Given the description of an element on the screen output the (x, y) to click on. 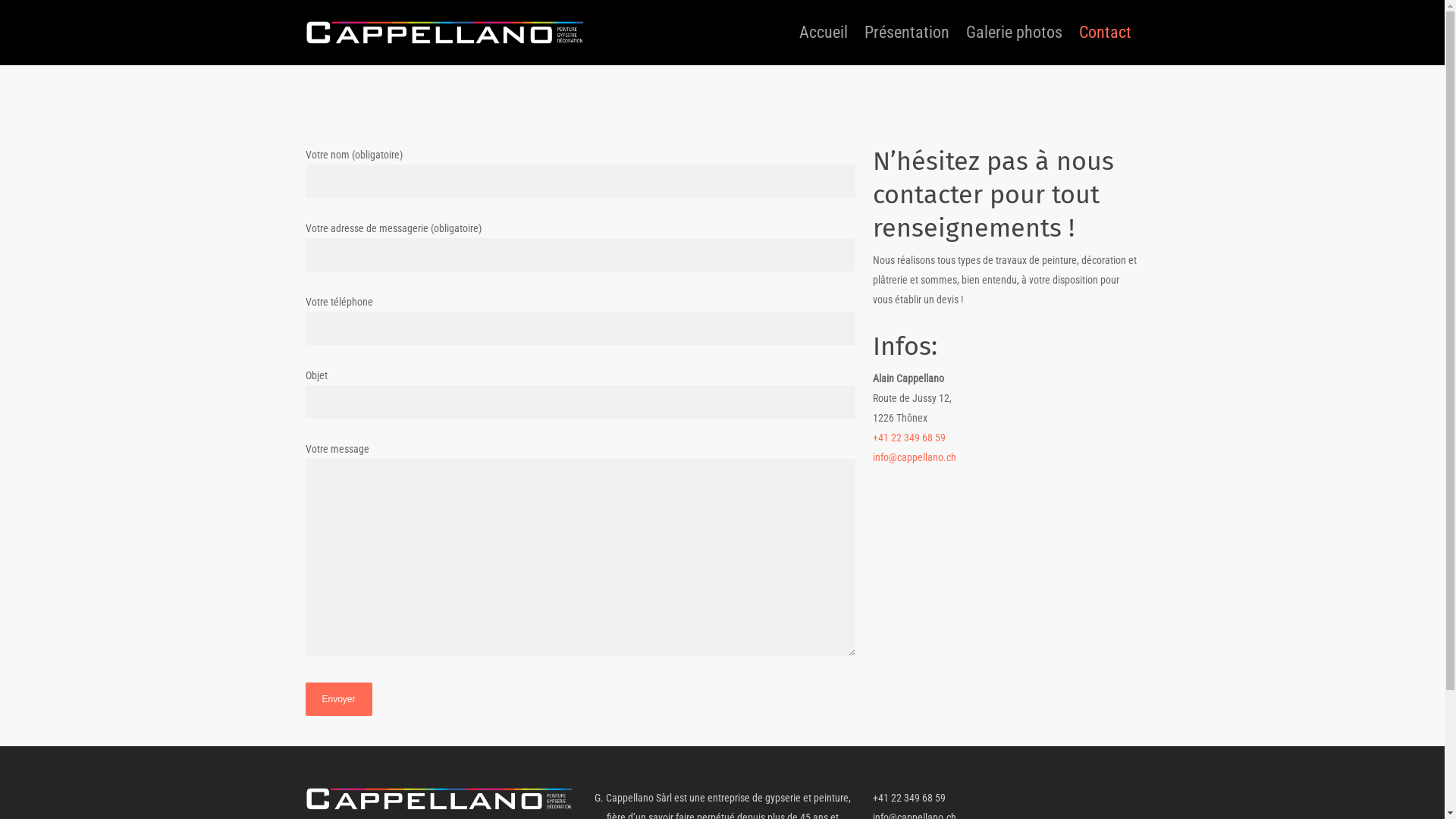
+41 22 349 68 59 Element type: text (908, 437)
Accueil Element type: text (823, 43)
Galerie photos Element type: text (1014, 43)
+41 22 349 68 59 Element type: text (908, 797)
Contact Element type: text (1104, 43)
info@cappellano.ch Element type: text (914, 457)
Envoyer Element type: text (337, 698)
